Given the description of an element on the screen output the (x, y) to click on. 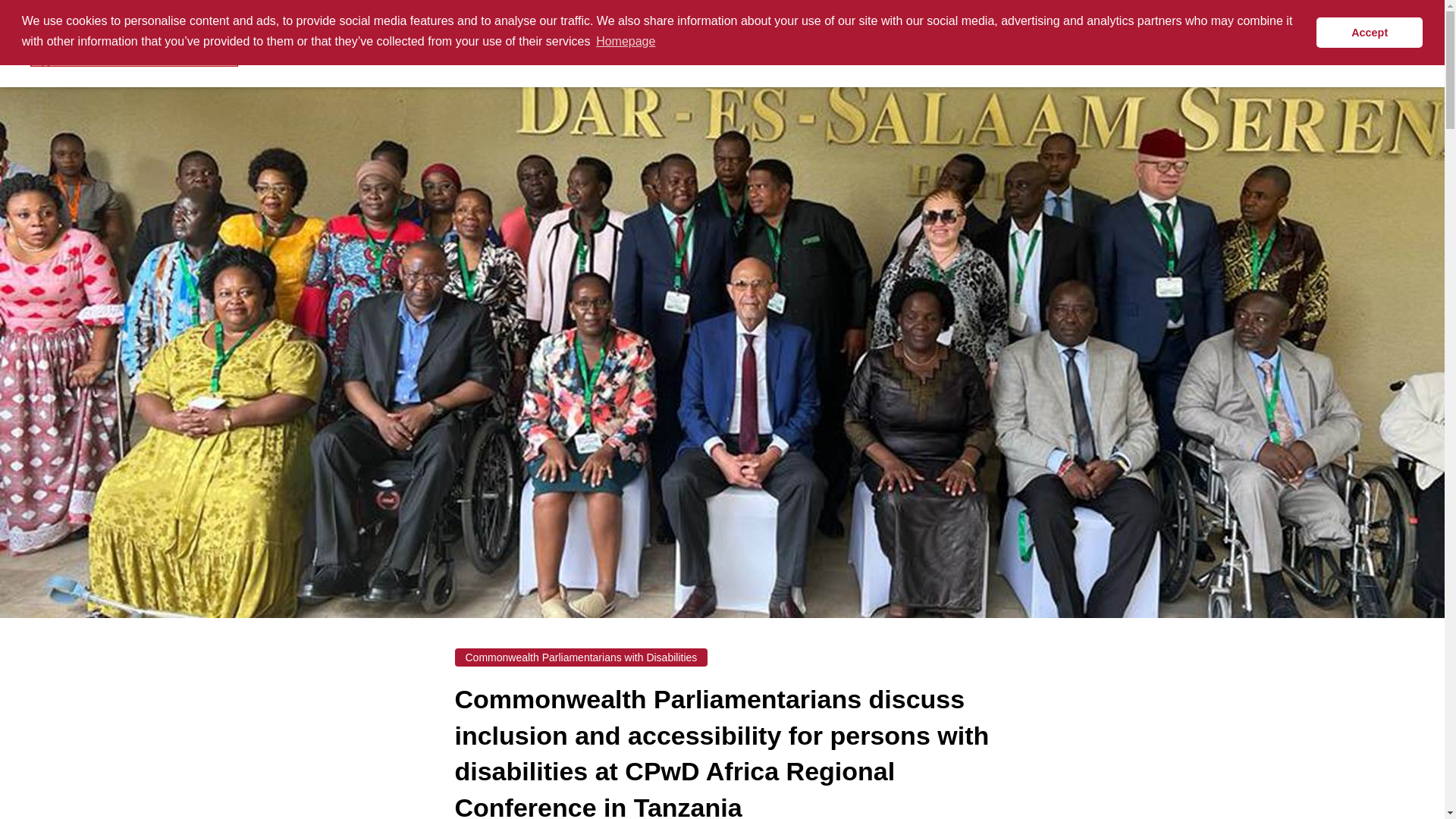
SIGN IN (1262, 43)
67th Commonwealth Parliamentary Conference (1062, 43)
Accept (1369, 32)
Homepage (134, 43)
Homepage (626, 41)
